Given the description of an element on the screen output the (x, y) to click on. 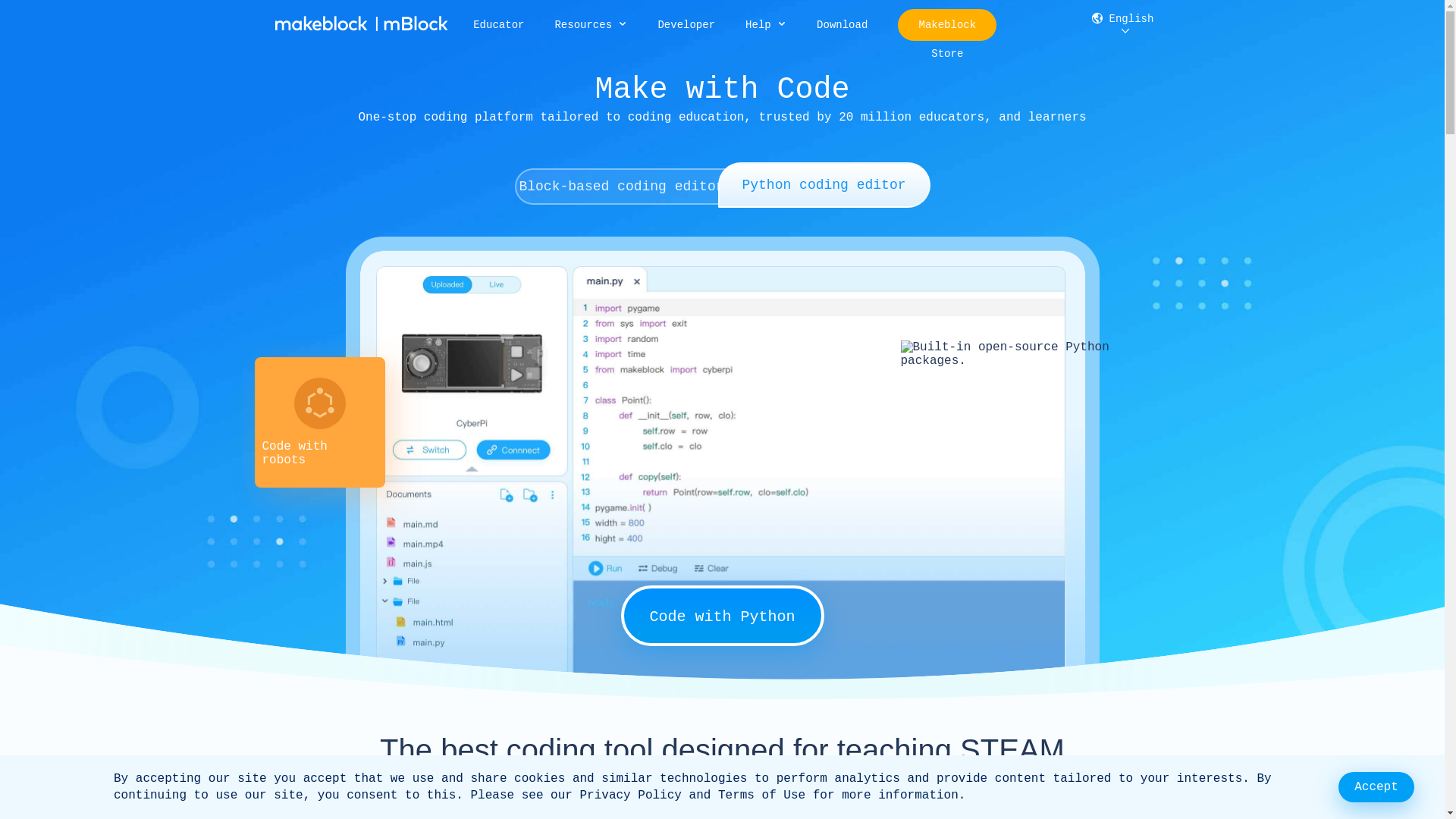
Code with Python Element type: text (721, 615)
Makeblock Store Element type: text (947, 38)
Python coding editor Element type: text (823, 184)
Help Element type: text (765, 24)
Block-based coding editor Element type: text (620, 186)
Developer Element type: text (686, 24)
Educator Element type: text (498, 24)
Download Element type: text (841, 24)
Accept Element type: text (1376, 786)
Resources Element type: text (590, 24)
